Given the description of an element on the screen output the (x, y) to click on. 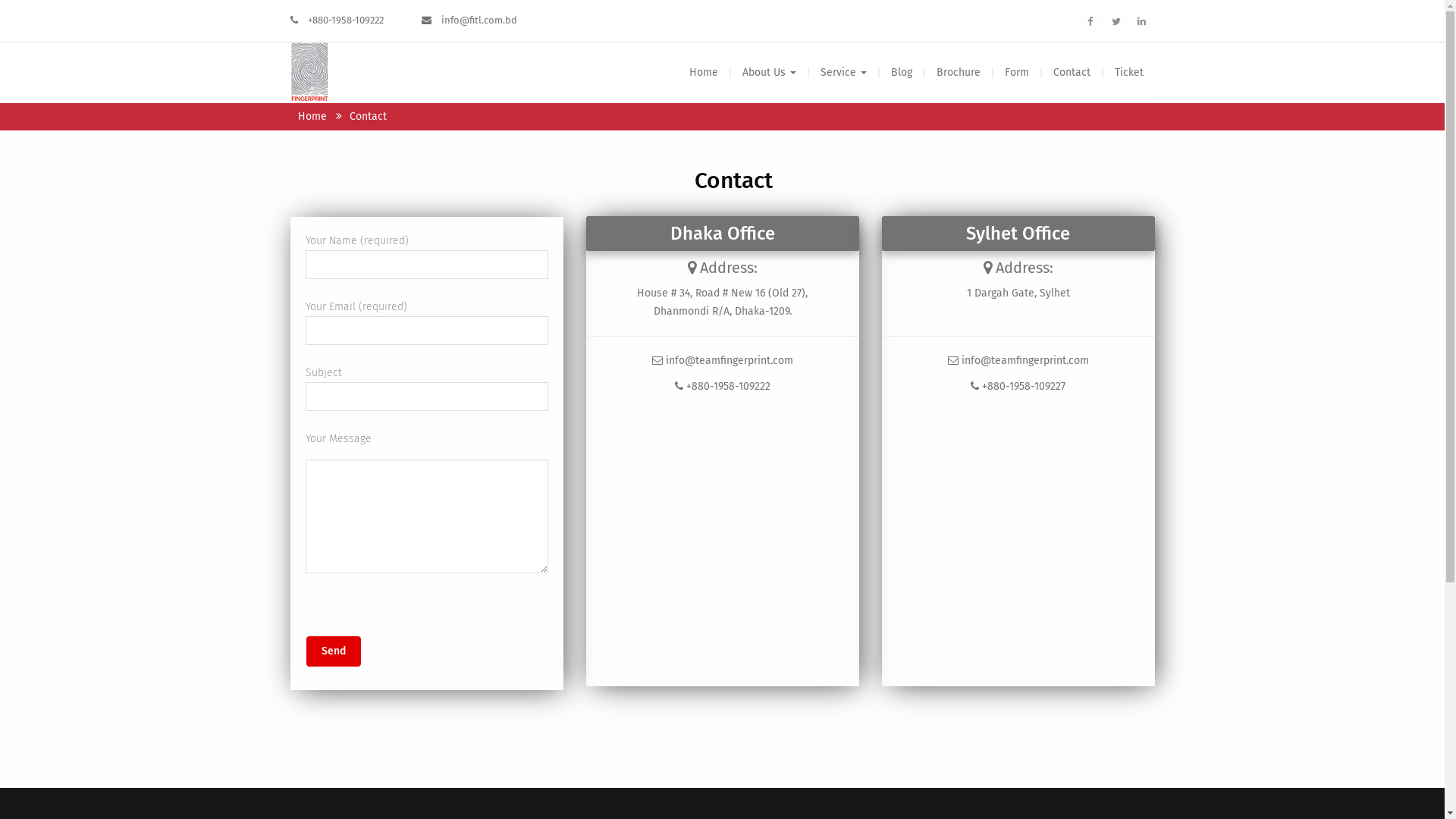
About Us Element type: text (768, 72)
Blog Element type: text (900, 72)
Service Element type: text (843, 72)
Home Element type: text (315, 115)
Home Element type: text (702, 72)
Ticket Element type: text (1128, 72)
Brochure Element type: text (957, 72)
info@fitl.com.bd Element type: text (479, 19)
Send Element type: text (332, 651)
Form Element type: text (1016, 72)
Contact Element type: text (1070, 72)
